Given the description of an element on the screen output the (x, y) to click on. 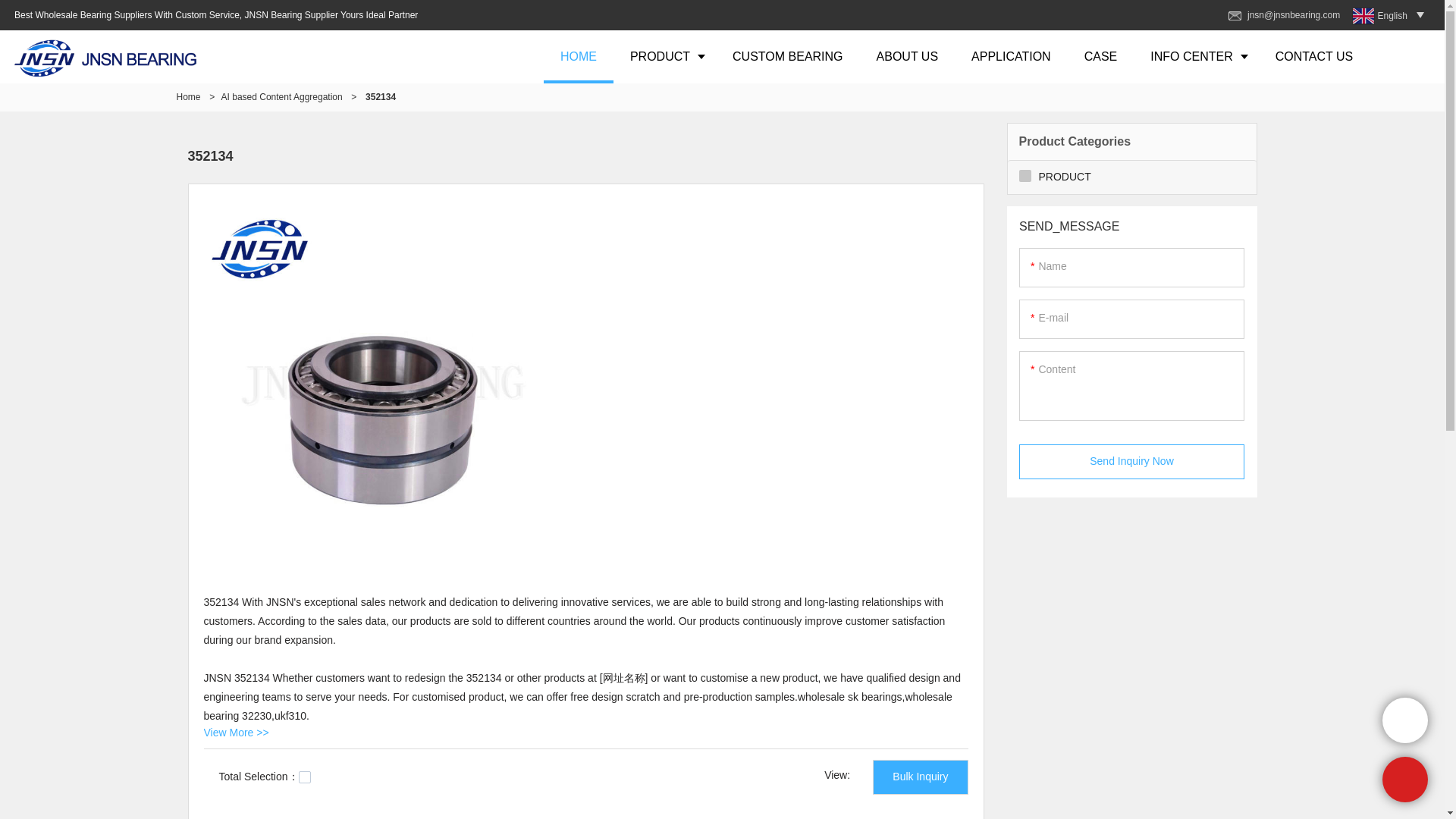
PRODUCT (664, 56)
HOME (577, 56)
on (304, 776)
